Given the description of an element on the screen output the (x, y) to click on. 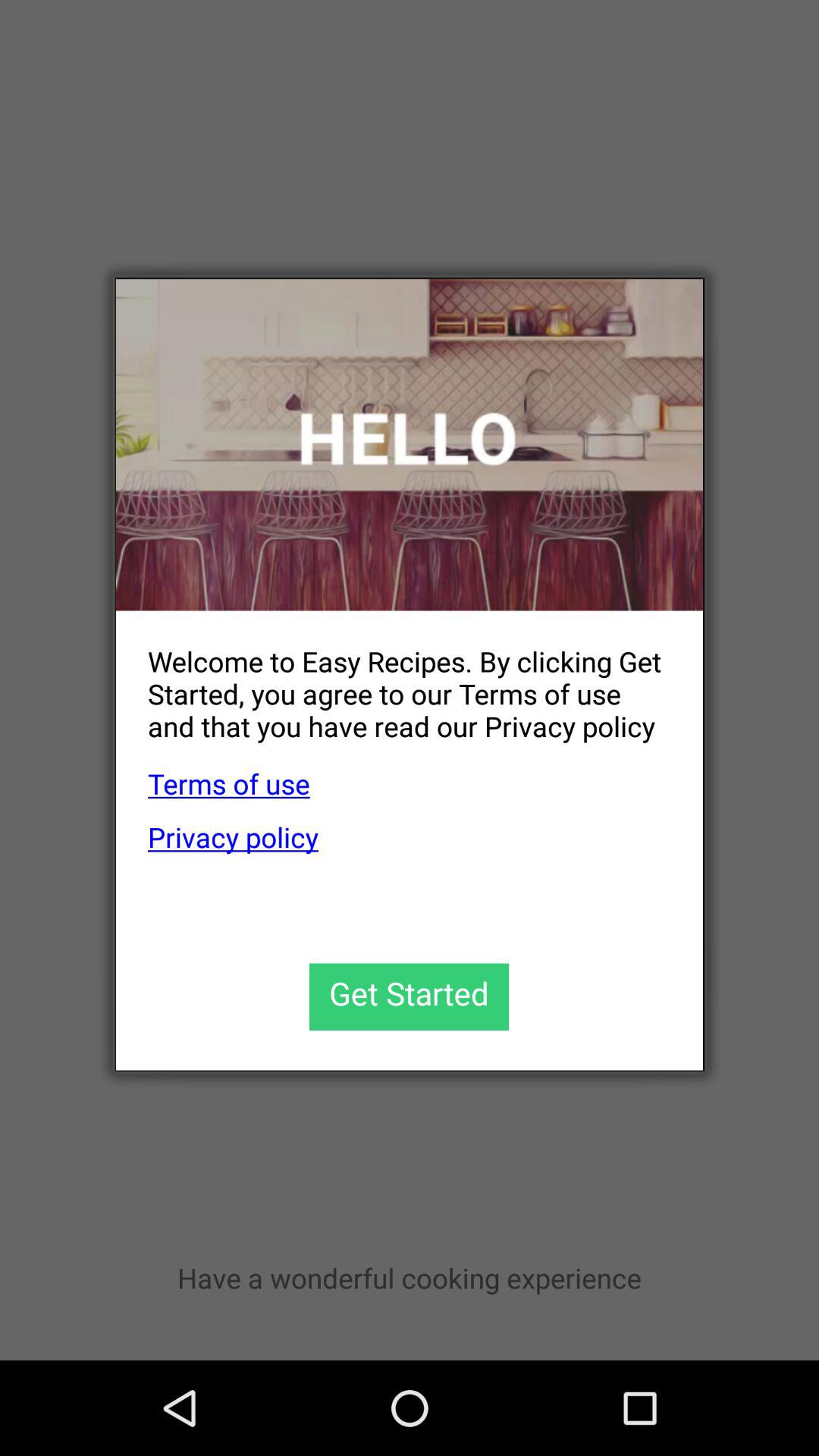
press the icon at the top (409, 444)
